Given the description of an element on the screen output the (x, y) to click on. 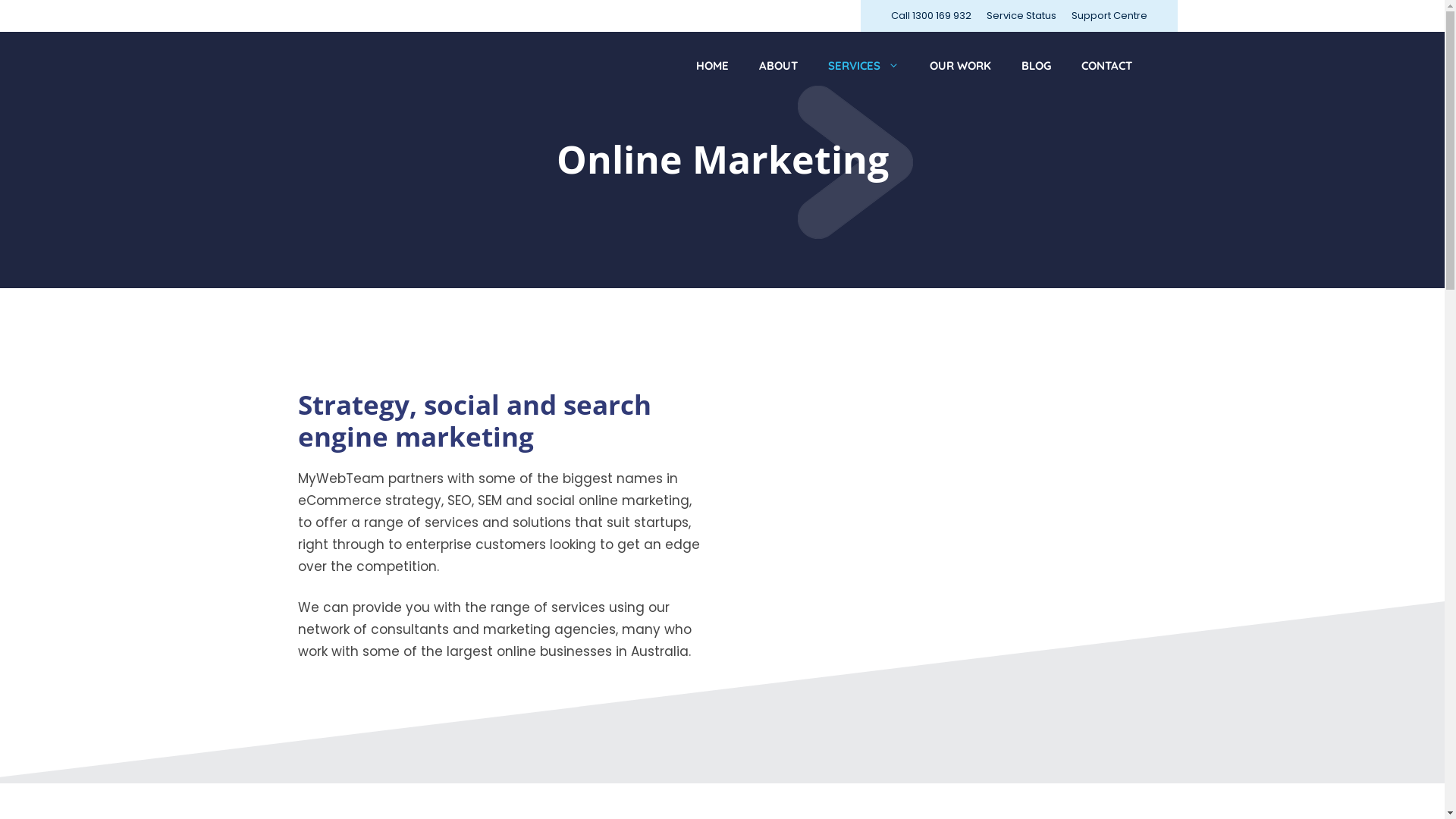
BLOG Element type: text (1035, 65)
ABOUT Element type: text (777, 65)
HOME Element type: text (711, 65)
Call 1300 169 932 Element type: text (930, 15)
OUR WORK Element type: text (960, 65)
Support Centre Element type: text (1108, 15)
SERVICES Element type: text (863, 65)
CONTACT Element type: text (1106, 65)
Service Status Element type: text (1020, 15)
